Given the description of an element on the screen output the (x, y) to click on. 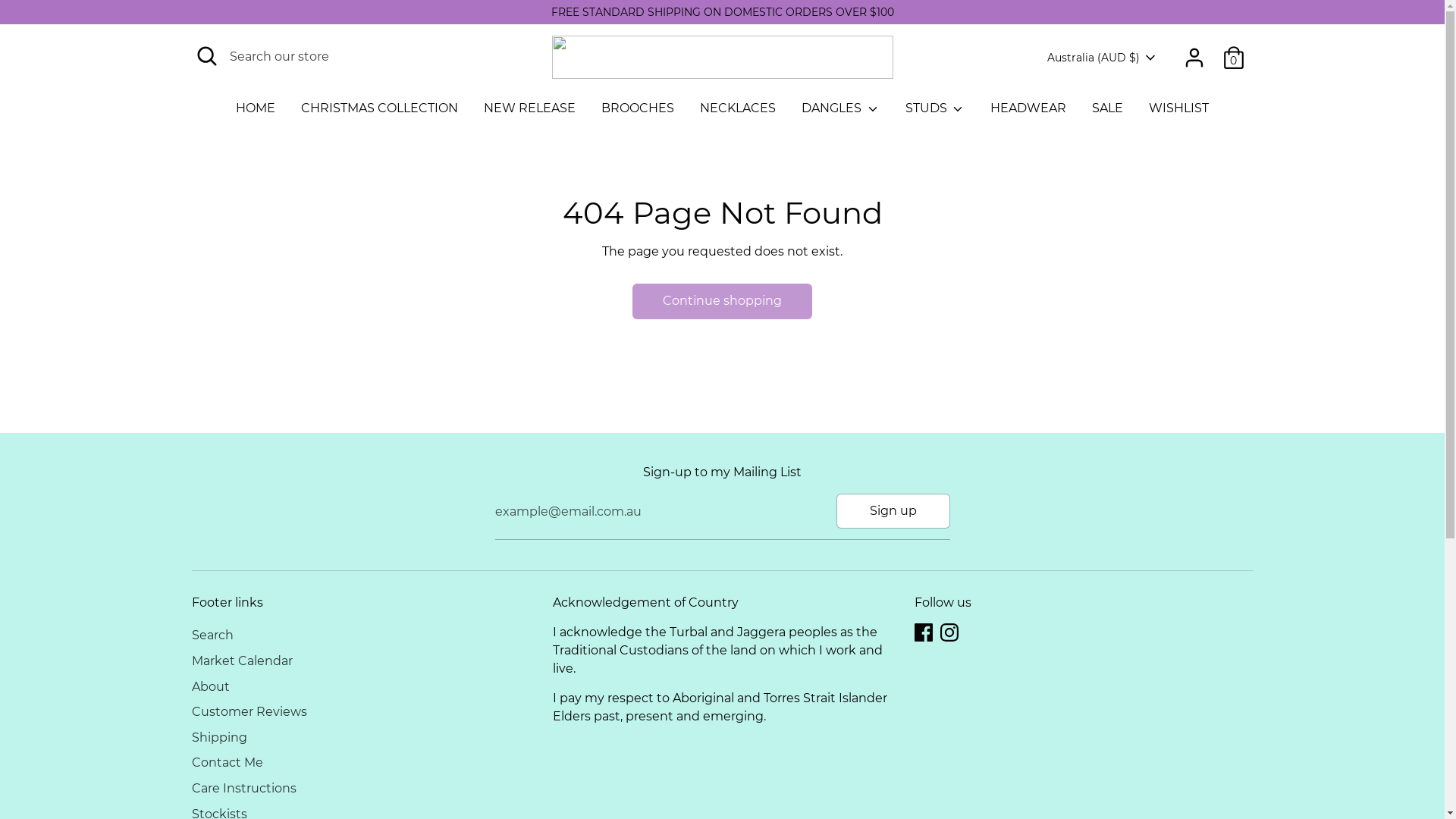
BROOCHES Element type: text (637, 112)
DANGLES Element type: text (840, 112)
STUDS Element type: text (934, 112)
Customer Reviews Element type: text (248, 711)
Market Calendar Element type: text (241, 660)
Sign up Element type: text (893, 510)
Australia (AUD $) Element type: text (1101, 57)
0 Element type: text (1232, 57)
WISHLIST Element type: text (1178, 112)
Search Element type: text (211, 634)
NEW RELEASE Element type: text (529, 112)
NECKLACES Element type: text (737, 112)
Care Instructions Element type: text (243, 788)
HEADWEAR Element type: text (1028, 112)
Shipping Element type: text (218, 737)
SALE Element type: text (1107, 112)
Contact Me Element type: text (226, 762)
HOME Element type: text (255, 112)
Continue shopping Element type: text (722, 300)
About Element type: text (210, 686)
CHRISTMAS COLLECTION Element type: text (379, 112)
